Given the description of an element on the screen output the (x, y) to click on. 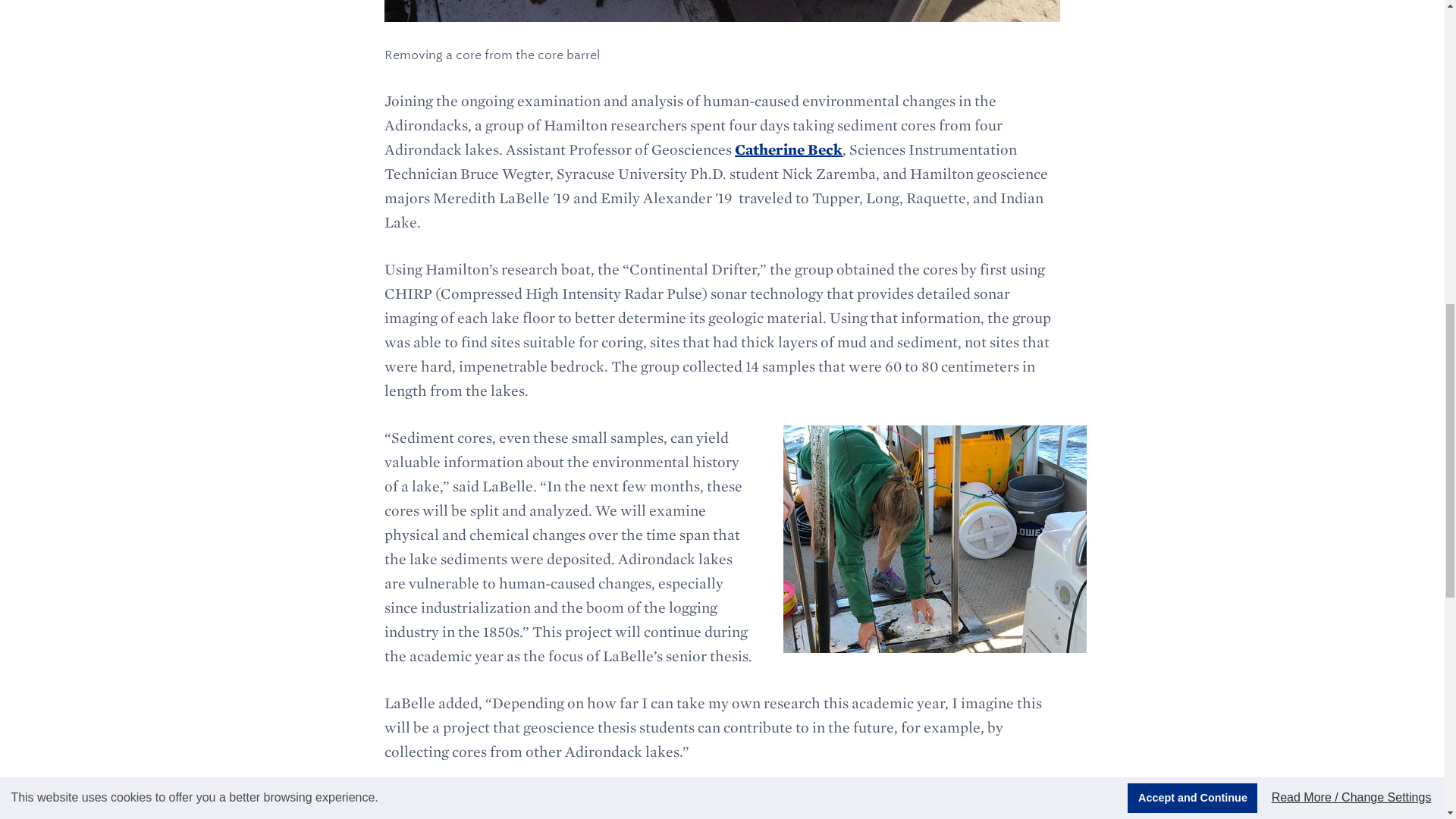
Catherine Beck (789, 149)
